Given the description of an element on the screen output the (x, y) to click on. 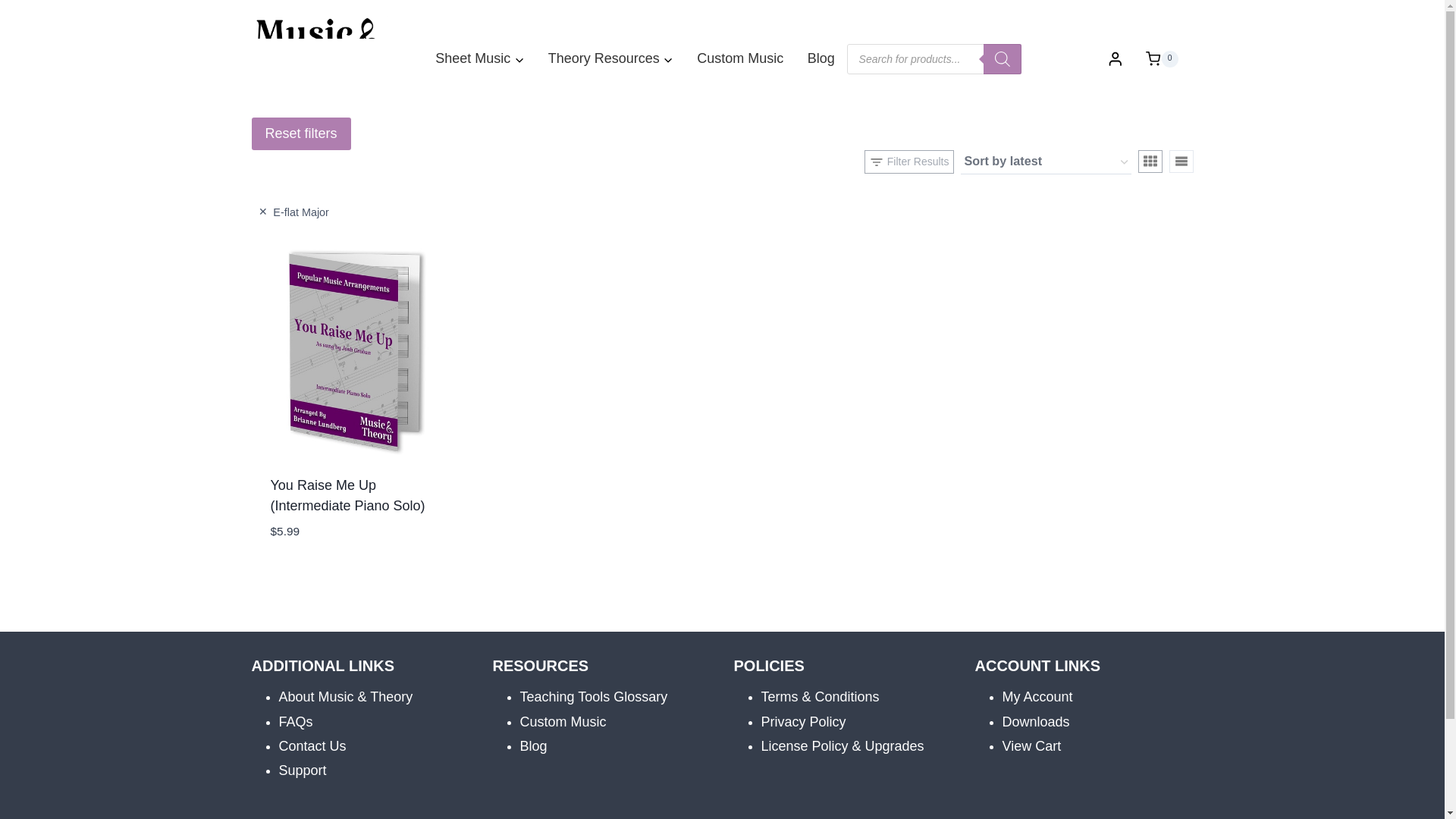
List View (1181, 160)
Reset filters (300, 133)
Blog (820, 57)
0 (1161, 58)
Sheet Music (479, 57)
Custom Music (740, 57)
E-flat Major (292, 211)
Grid View (1149, 160)
Filter Results (908, 160)
Theory Resources (610, 57)
